Given the description of an element on the screen output the (x, y) to click on. 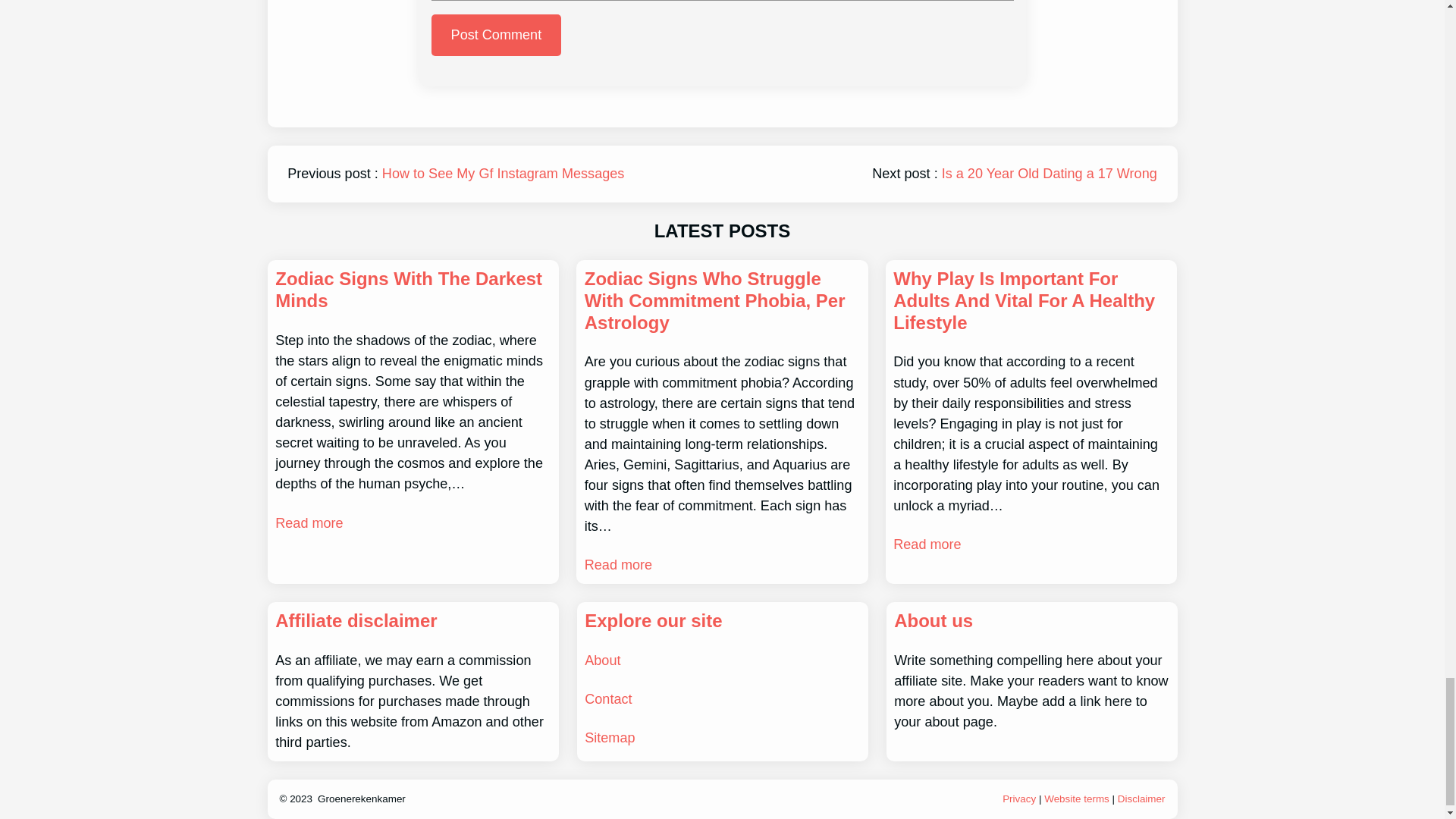
About (602, 660)
Disclaimer (1142, 798)
Read more (308, 523)
How to See My Gf Instagram Messages (502, 173)
Is a 20 Year Old Dating a 17 Wrong (1049, 173)
Zodiac Signs With The Darkest Minds (412, 290)
Contact (608, 698)
Sitemap (609, 737)
Groenerekenkamer (361, 798)
